Given the description of an element on the screen output the (x, y) to click on. 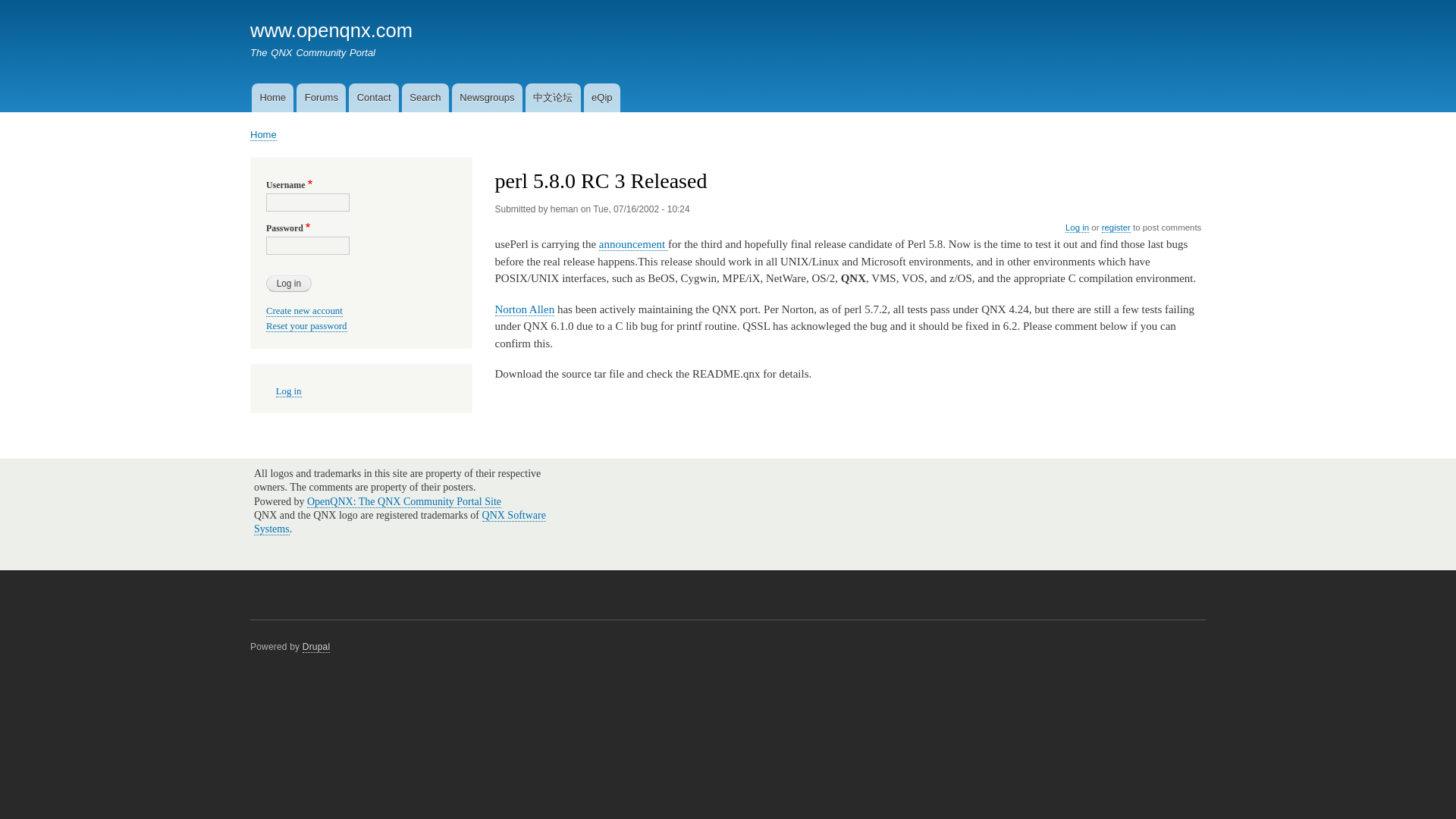
Home (272, 97)
OpenQNX: The QNX Community Portal Site (403, 501)
Log in (288, 391)
Log in (1077, 227)
Drupal (316, 646)
Newsgroups (486, 97)
register (1116, 227)
Contact (373, 97)
Tuesday, July 16, 2002 - 10:24 (641, 208)
Create a new user account. (304, 310)
Forums (321, 97)
Reset your password (306, 326)
eQip (601, 97)
Search (424, 97)
QNX Software Systems (399, 522)
